Given the description of an element on the screen output the (x, y) to click on. 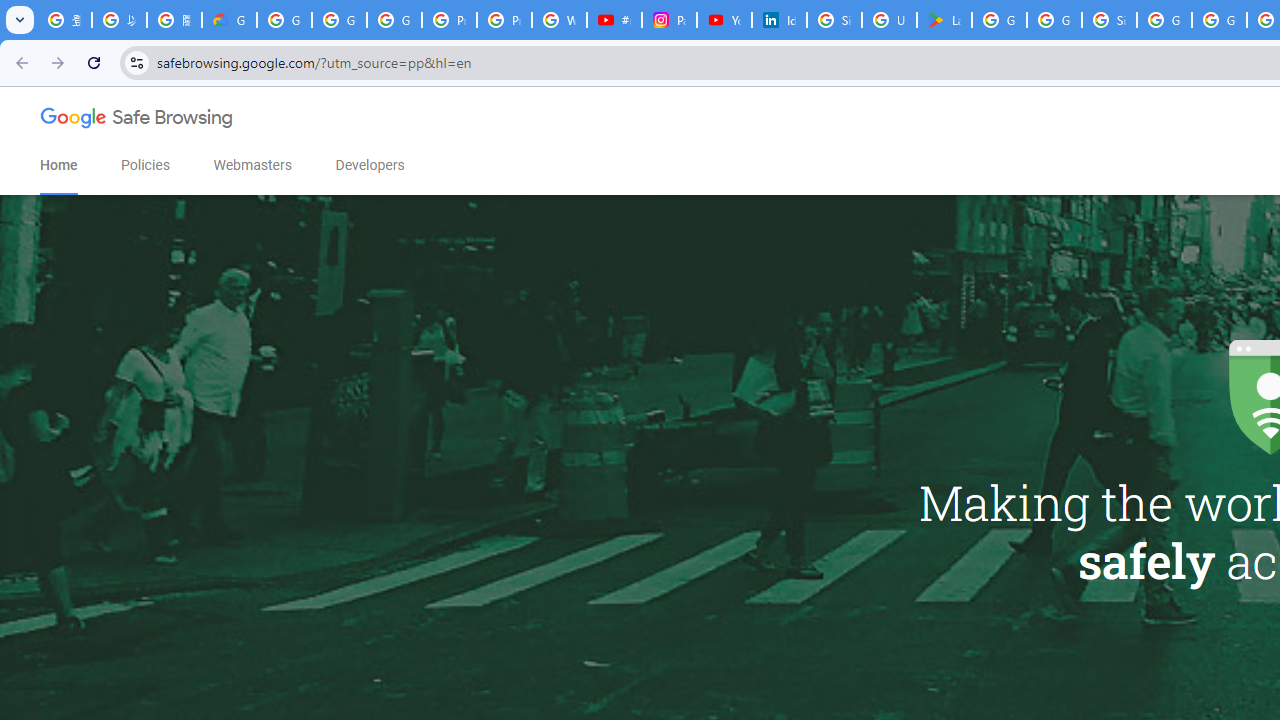
Identity verification via Persona | LinkedIn Help (779, 20)
Google Cloud Platform (1218, 20)
Google Workspace - Specific Terms (1053, 20)
